Given the description of an element on the screen output the (x, y) to click on. 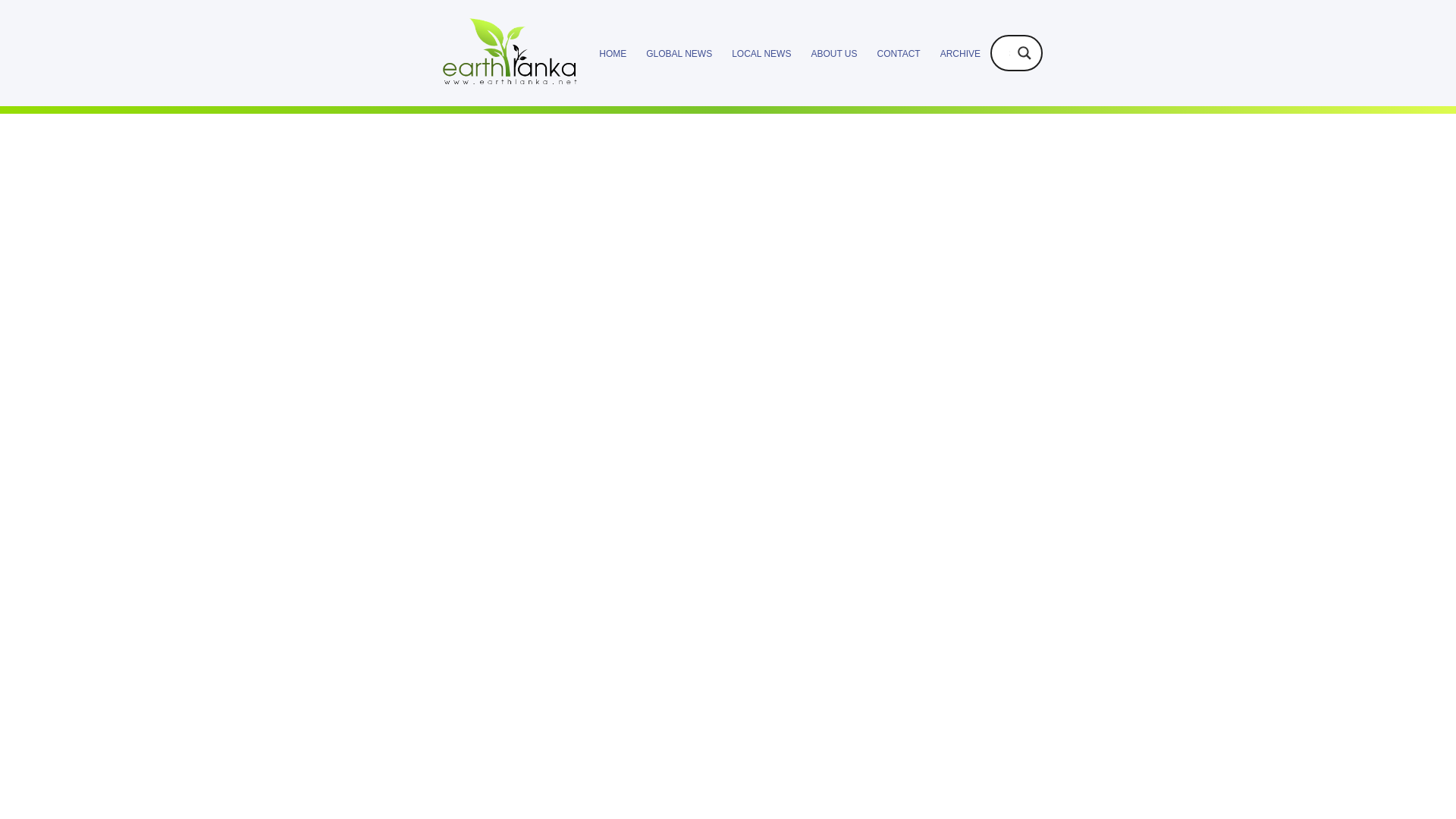
HOME (611, 53)
GLOBAL NEWS (678, 53)
ARCHIVE (960, 53)
LOCAL NEWS (760, 53)
CONTACT (898, 53)
ABOUT US (834, 53)
